Given the description of an element on the screen output the (x, y) to click on. 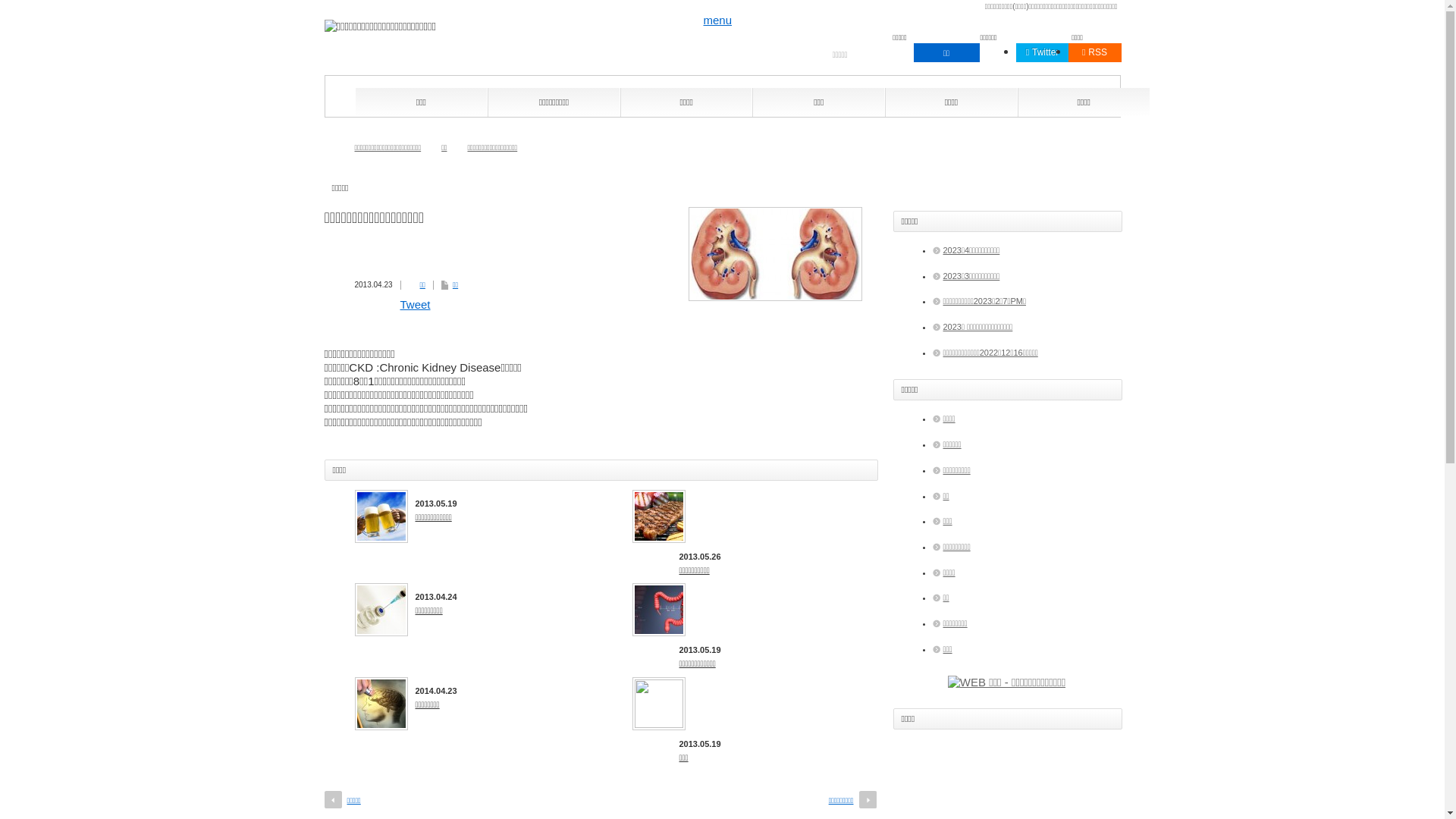
Twitter Element type: text (1042, 52)
Tweet Element type: text (415, 304)
menu Element type: text (717, 19)
RSS Element type: text (1093, 52)
